Given the description of an element on the screen output the (x, y) to click on. 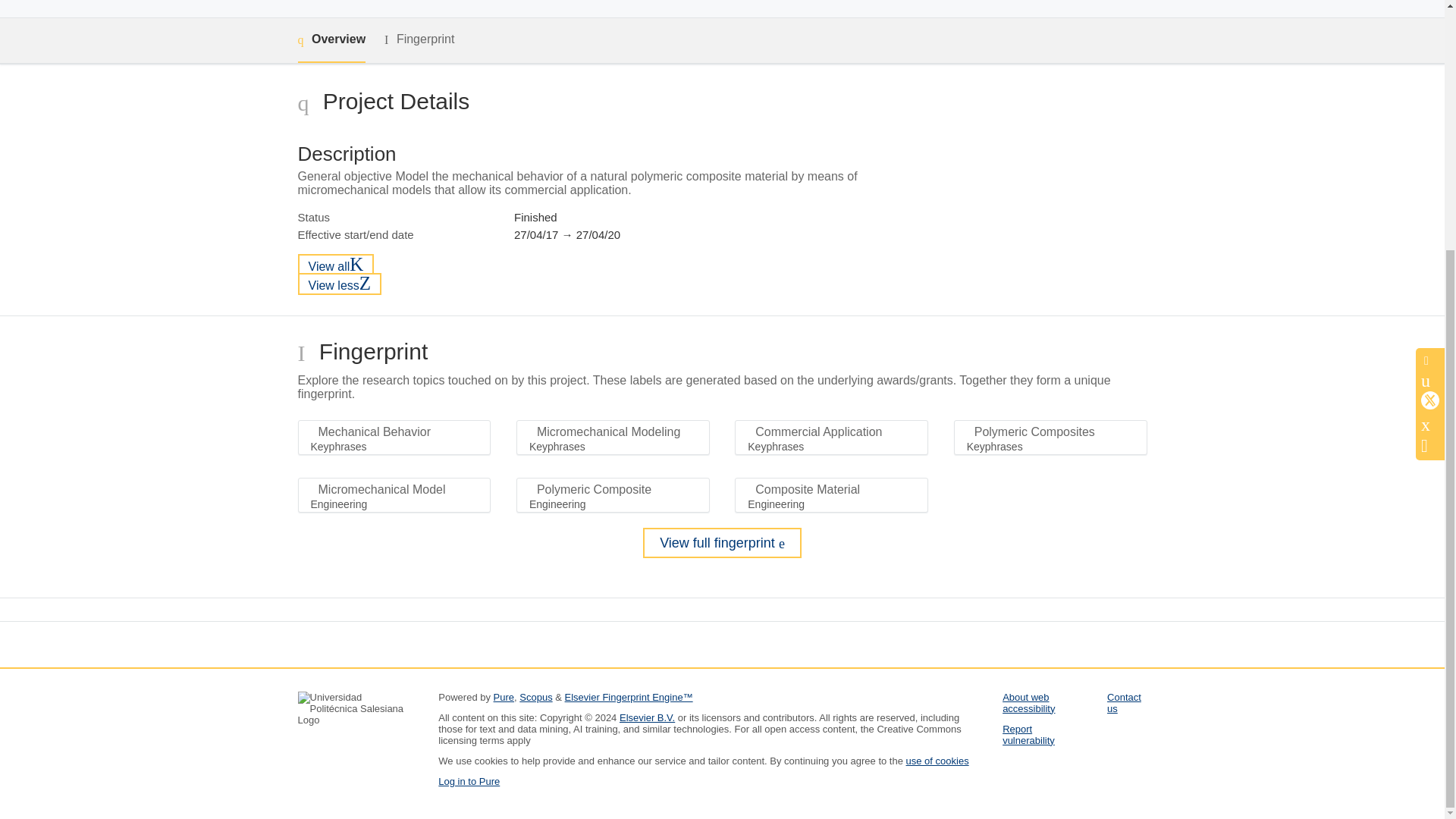
Log in to Pure (468, 781)
View all (335, 264)
Elsevier B.V. (647, 717)
View less (339, 283)
Fingerprint (419, 39)
Pure (503, 696)
Scopus (535, 696)
use of cookies (937, 760)
Overview (331, 40)
View full fingerprint (722, 542)
